Given the description of an element on the screen output the (x, y) to click on. 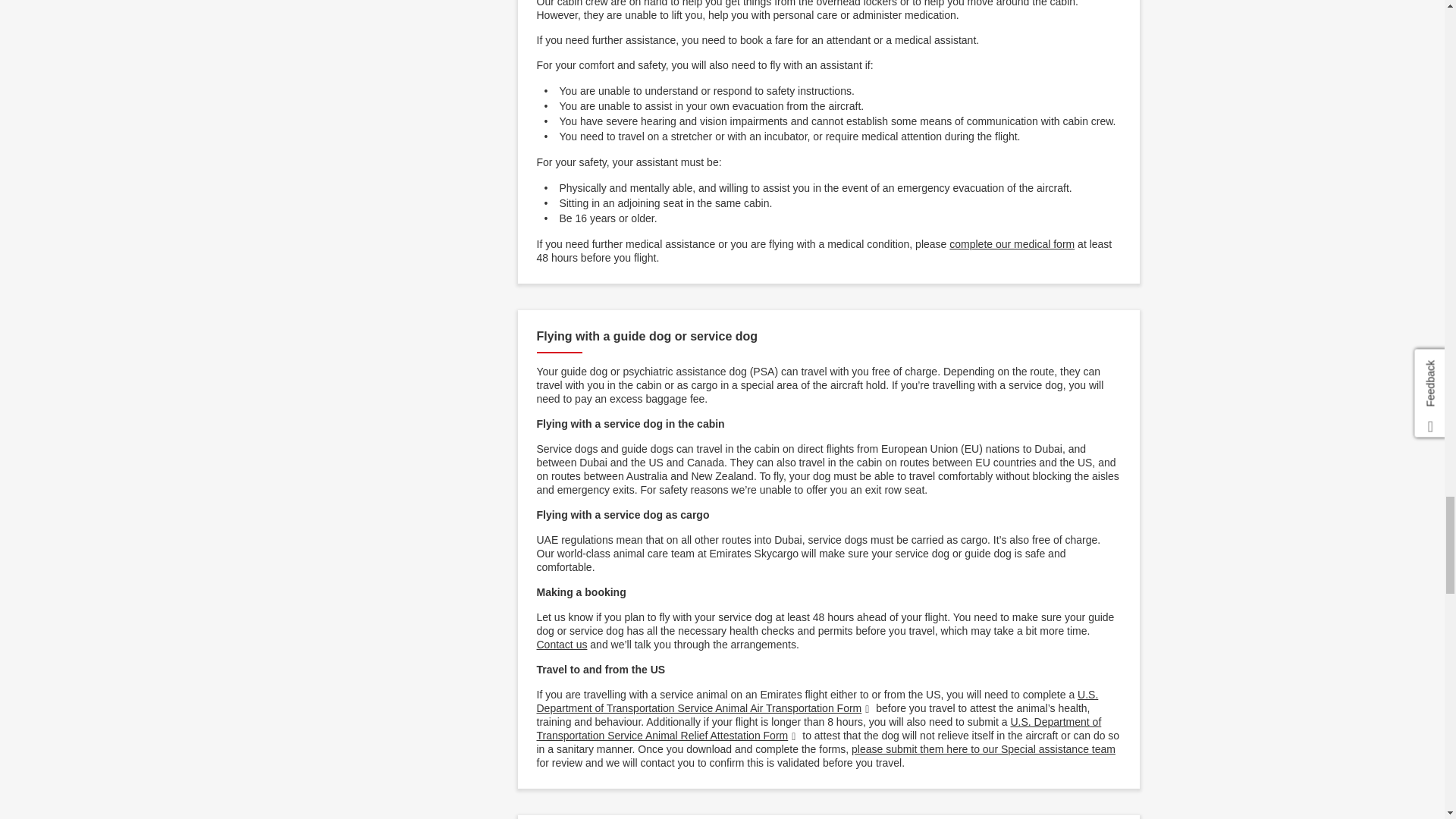
Local Emirates offices (562, 644)
000 Special Assistance and Health - Header (983, 748)
